Given the description of an element on the screen output the (x, y) to click on. 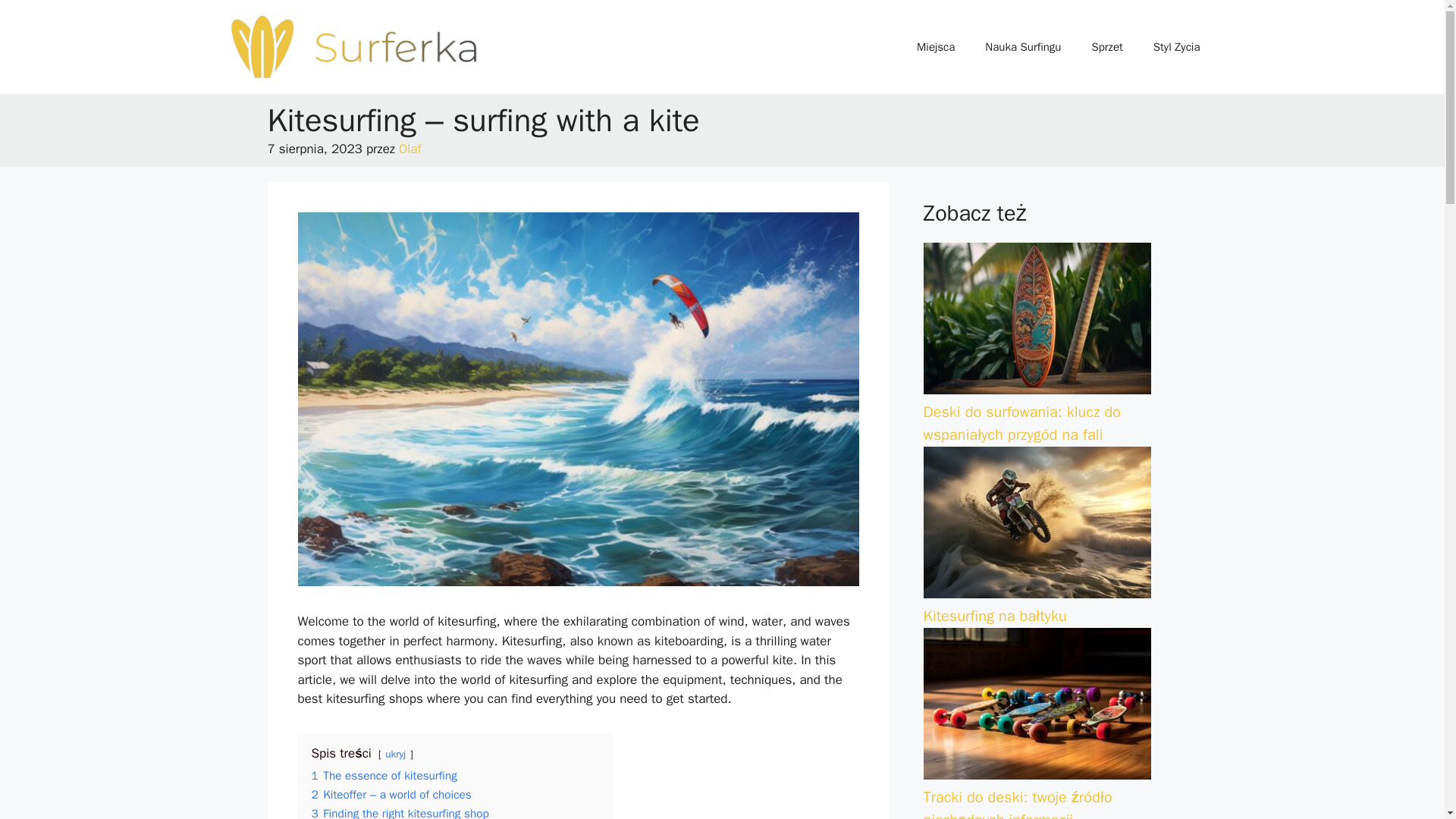
Sprzet (1106, 46)
ukryj (395, 753)
Miejsca (935, 46)
1 The essence of kitesurfing (384, 775)
3 Finding the right kitesurfing shop (399, 812)
Nauka Surfingu (1022, 46)
Olaf (410, 148)
Styl Zycia (1176, 46)
Zobacz wszystkie posty Olaf (410, 148)
